Given the description of an element on the screen output the (x, y) to click on. 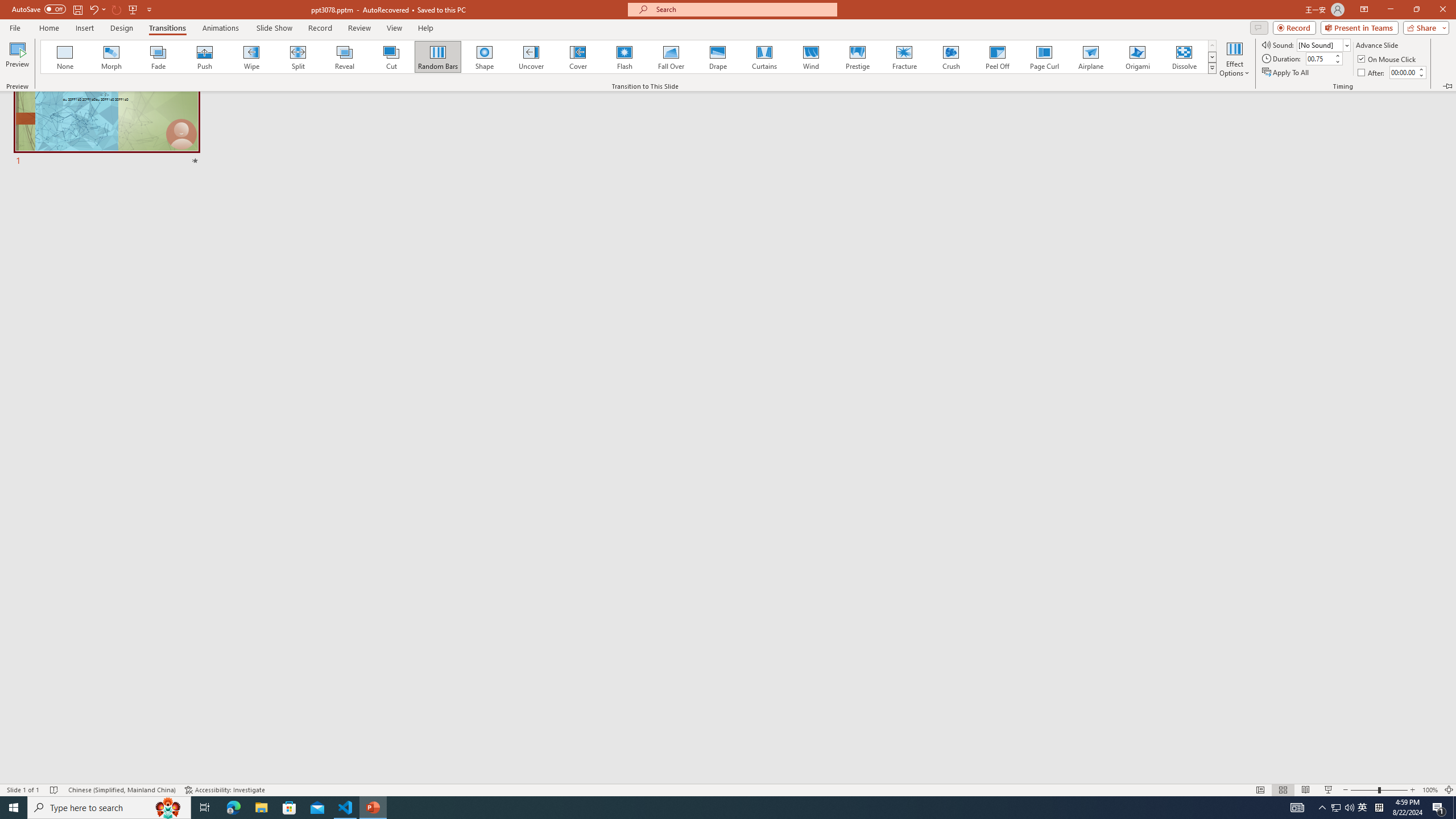
Zoom 100% (1430, 790)
